Given the description of an element on the screen output the (x, y) to click on. 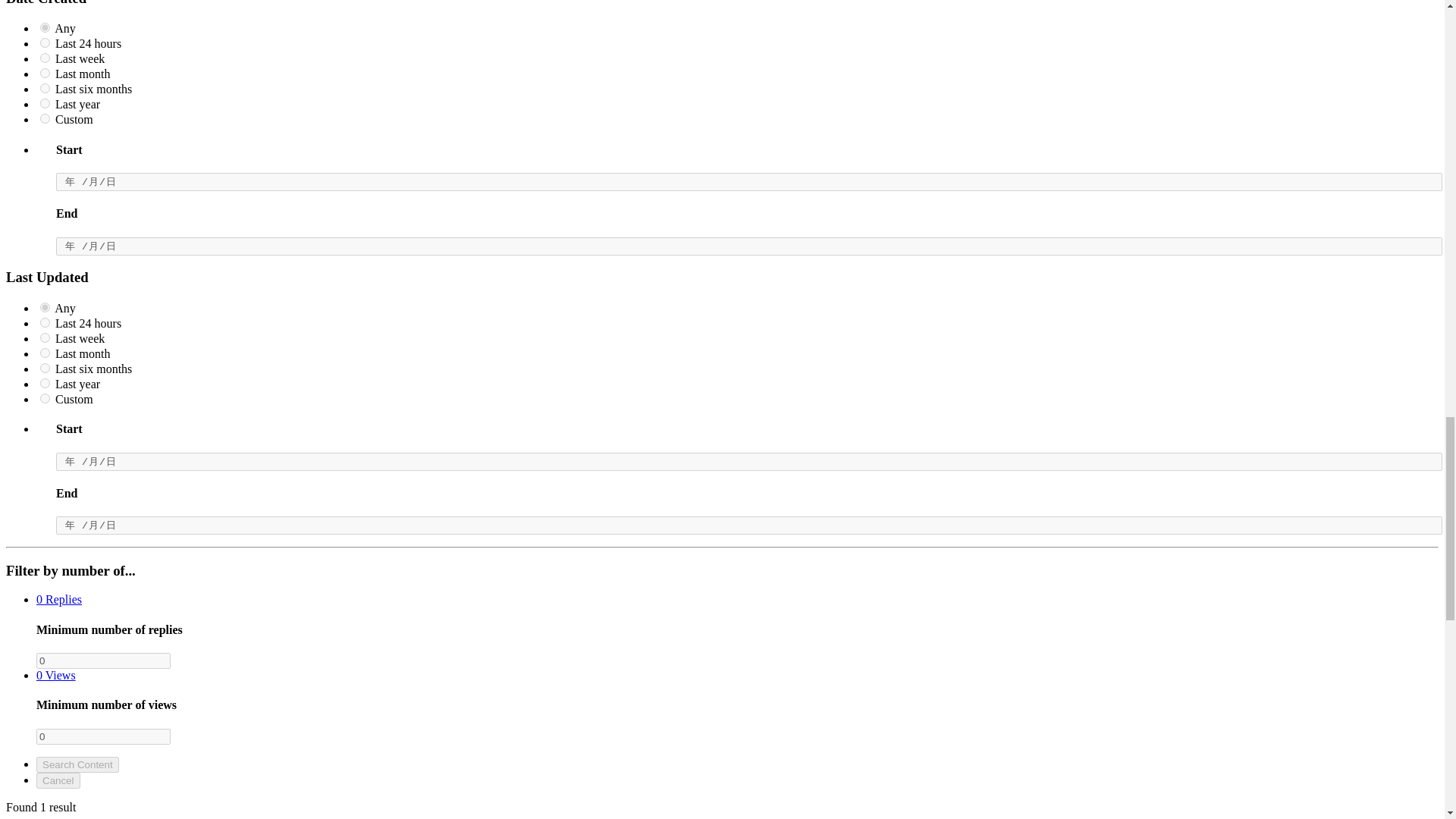
0 Views (55, 675)
custom (44, 118)
day (44, 42)
year (44, 103)
week (44, 58)
Cancel (58, 780)
0 Replies (58, 599)
Search Content (77, 764)
any (44, 27)
month (44, 72)
